Given the description of an element on the screen output the (x, y) to click on. 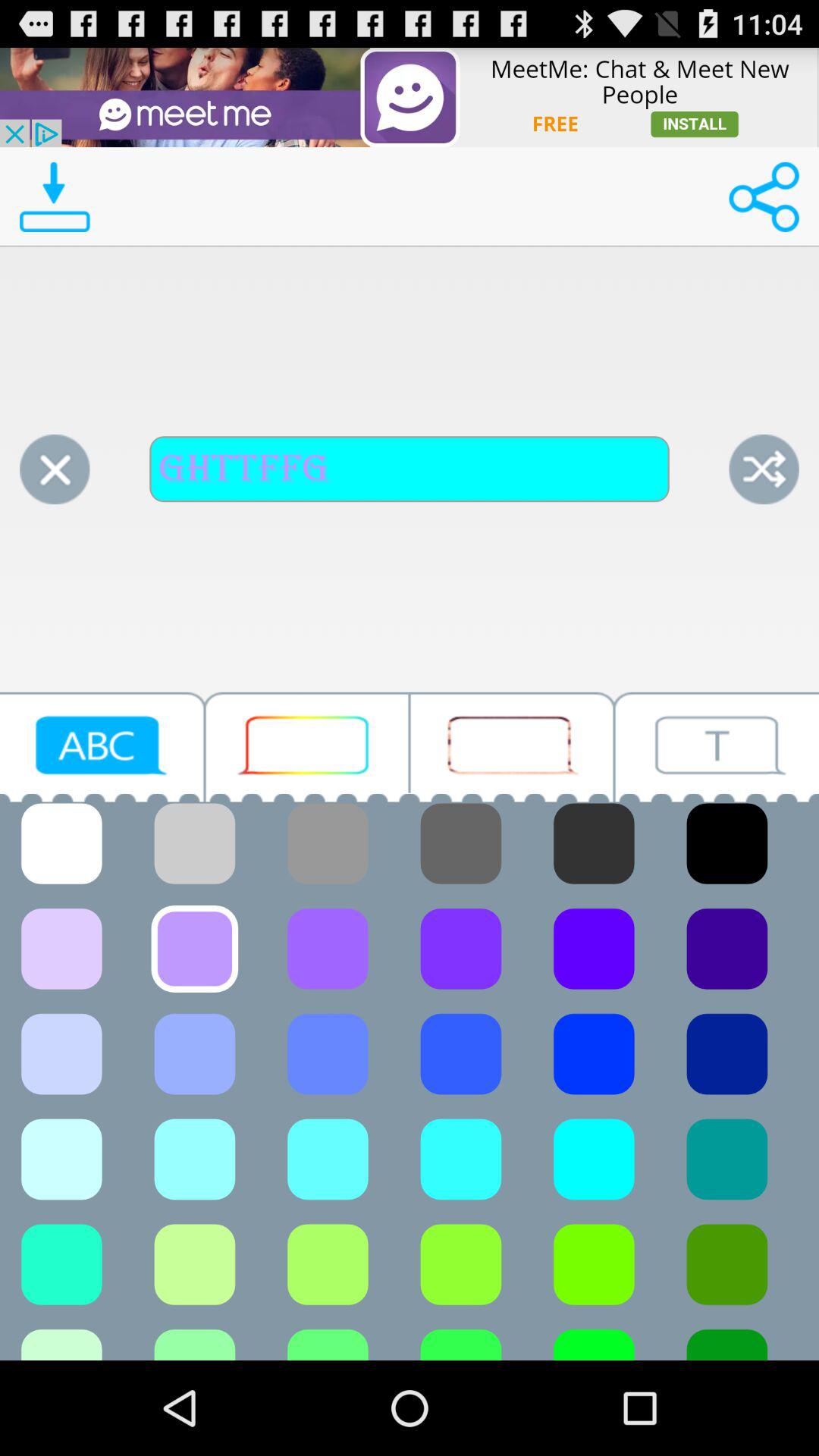
go to shuffle (764, 469)
